Given the description of an element on the screen output the (x, y) to click on. 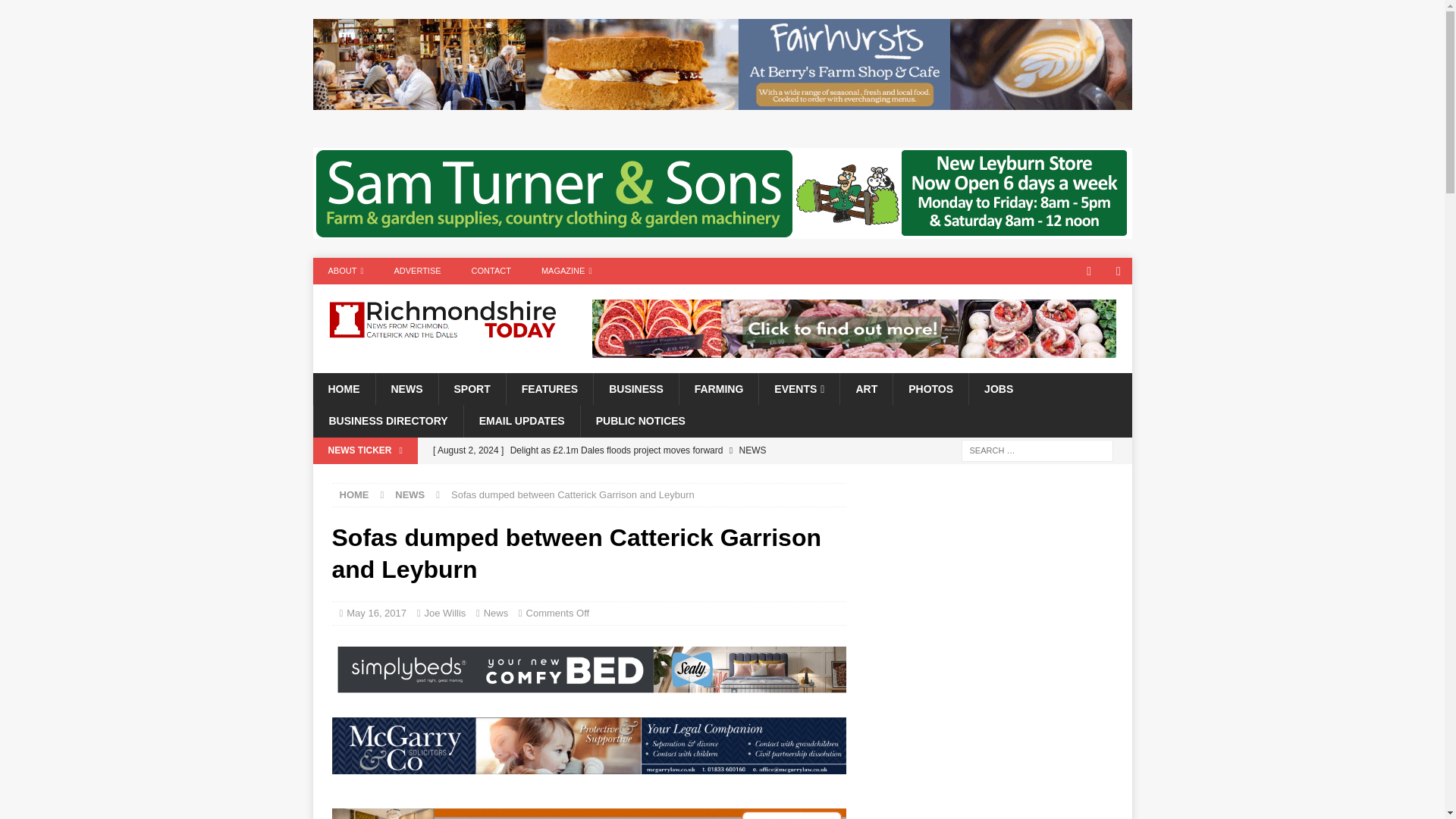
ABOUT (345, 270)
EVENTS (799, 388)
ART (866, 388)
Search (56, 11)
PUBLIC NOTICES (639, 420)
BUSINESS DIRECTORY (388, 420)
HOME (343, 388)
FARMING (718, 388)
BUSINESS (635, 388)
EMAIL UPDATES (521, 420)
HOME (354, 494)
SPORT (471, 388)
FEATURES (548, 388)
PHOTOS (930, 388)
NEWS (406, 388)
